Given the description of an element on the screen output the (x, y) to click on. 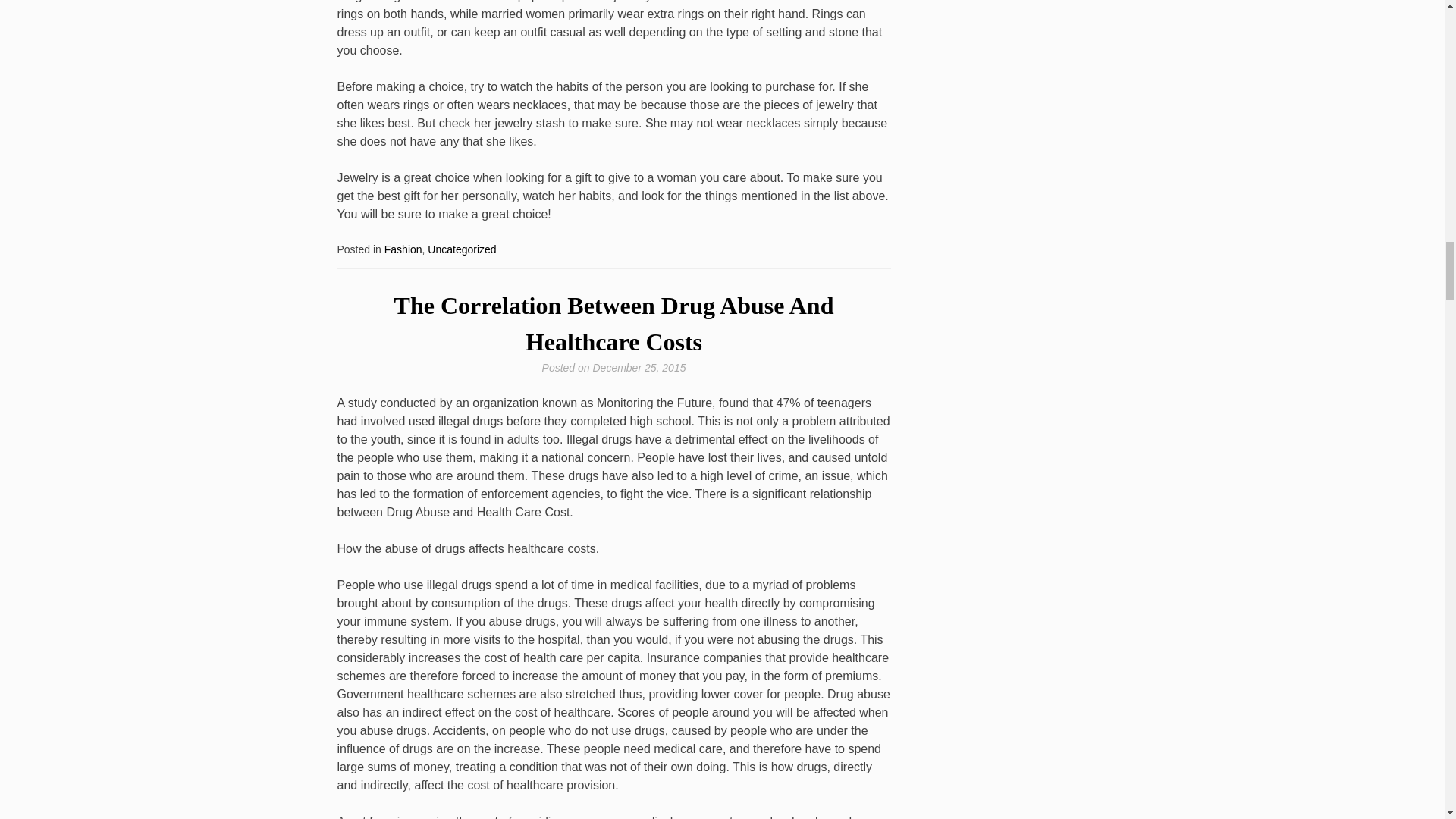
Uncategorized (462, 249)
Fashion (403, 249)
The Correlation Between Drug Abuse And Healthcare Costs (614, 323)
December 25, 2015 (638, 367)
